Given the description of an element on the screen output the (x, y) to click on. 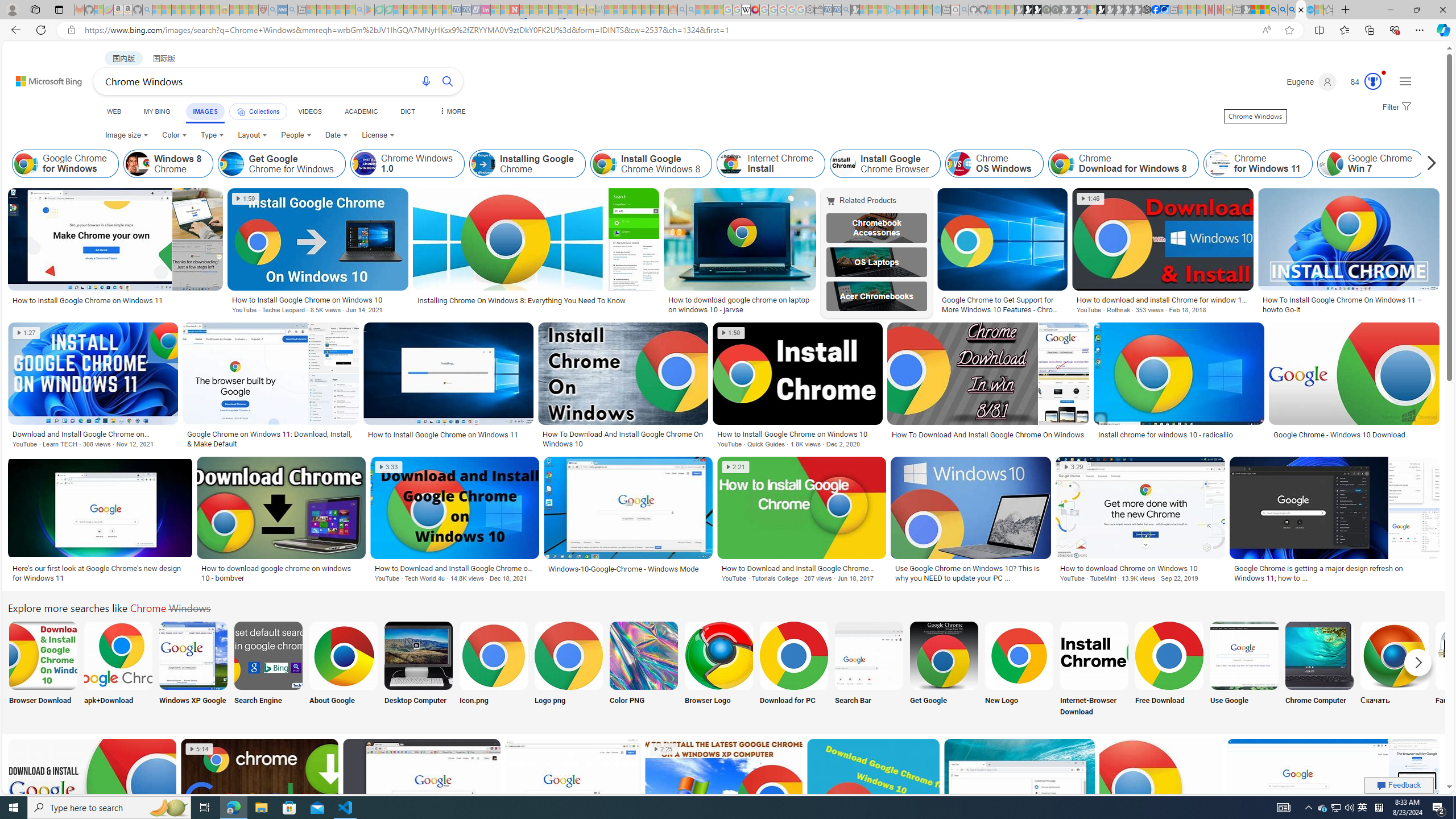
About Google Chrome (342, 654)
Chrome Download for Windows 8 (1061, 163)
Bing Real Estate - Home sales and rental listings - Sleeping (846, 9)
WEB (114, 111)
Windows-10-Google-Chrome - Windows ModeSave (630, 521)
License (378, 135)
Chrome for Windows 11 (1217, 163)
Chrome Color PNG Color PNG (644, 669)
People (295, 135)
Chrome Search Bar Search Bar (868, 669)
